Given the description of an element on the screen output the (x, y) to click on. 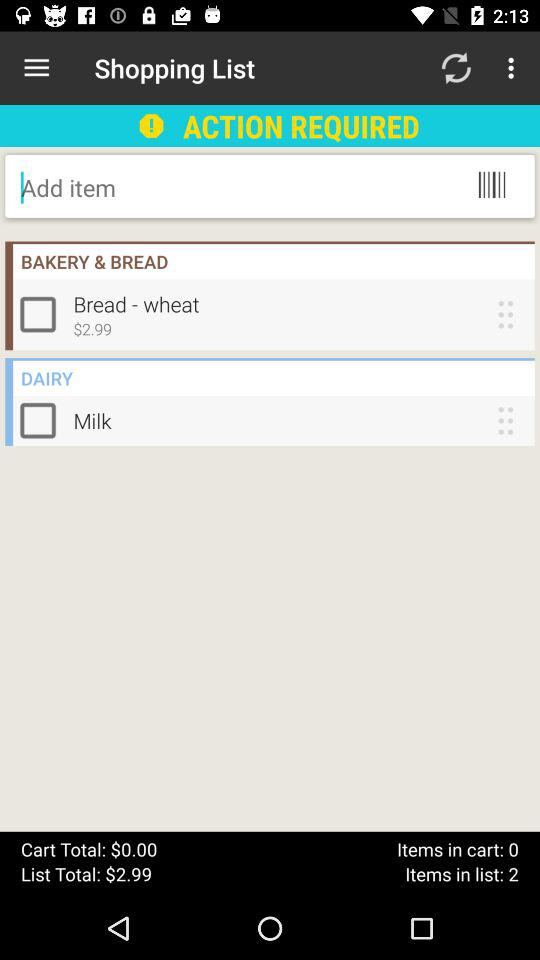
add milk to cart (41, 420)
